Given the description of an element on the screen output the (x, y) to click on. 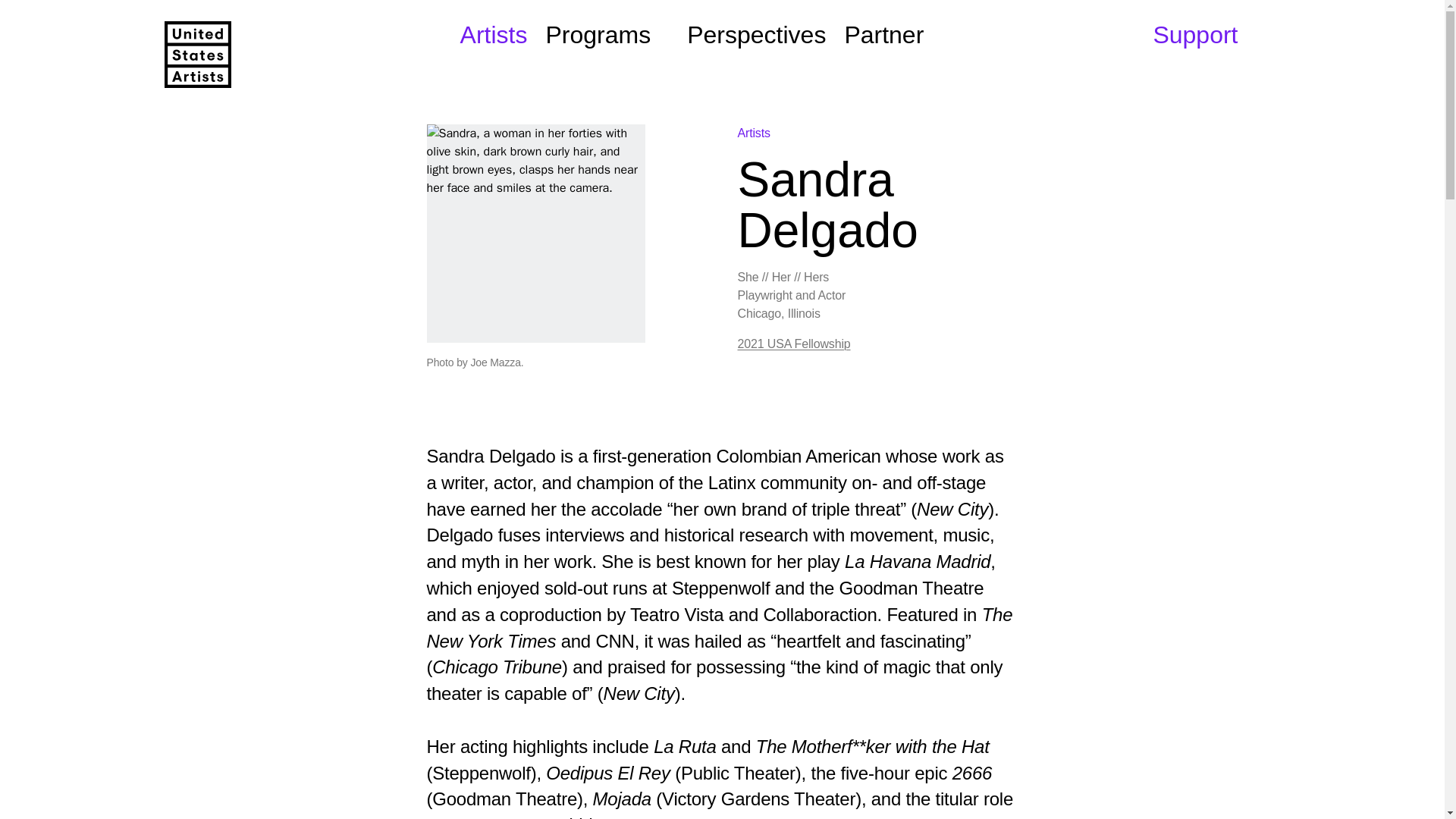
Support (1195, 34)
Partner (883, 35)
Programs (606, 35)
Artists (493, 35)
2021 USA Fellowship (793, 343)
Artists (753, 133)
United States Artists (196, 54)
Perspectives (756, 35)
